Given the description of an element on the screen output the (x, y) to click on. 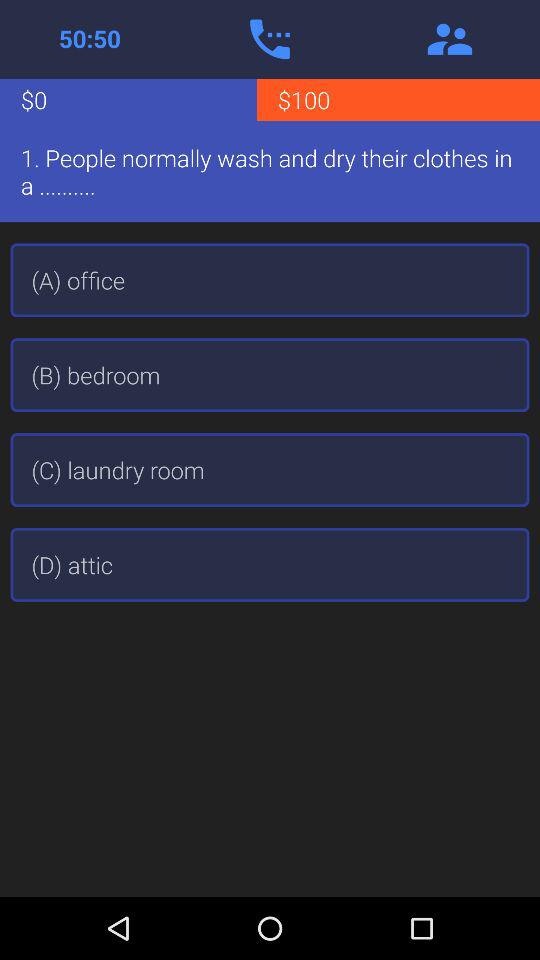
use 50/50 (90, 39)
